Given the description of an element on the screen output the (x, y) to click on. 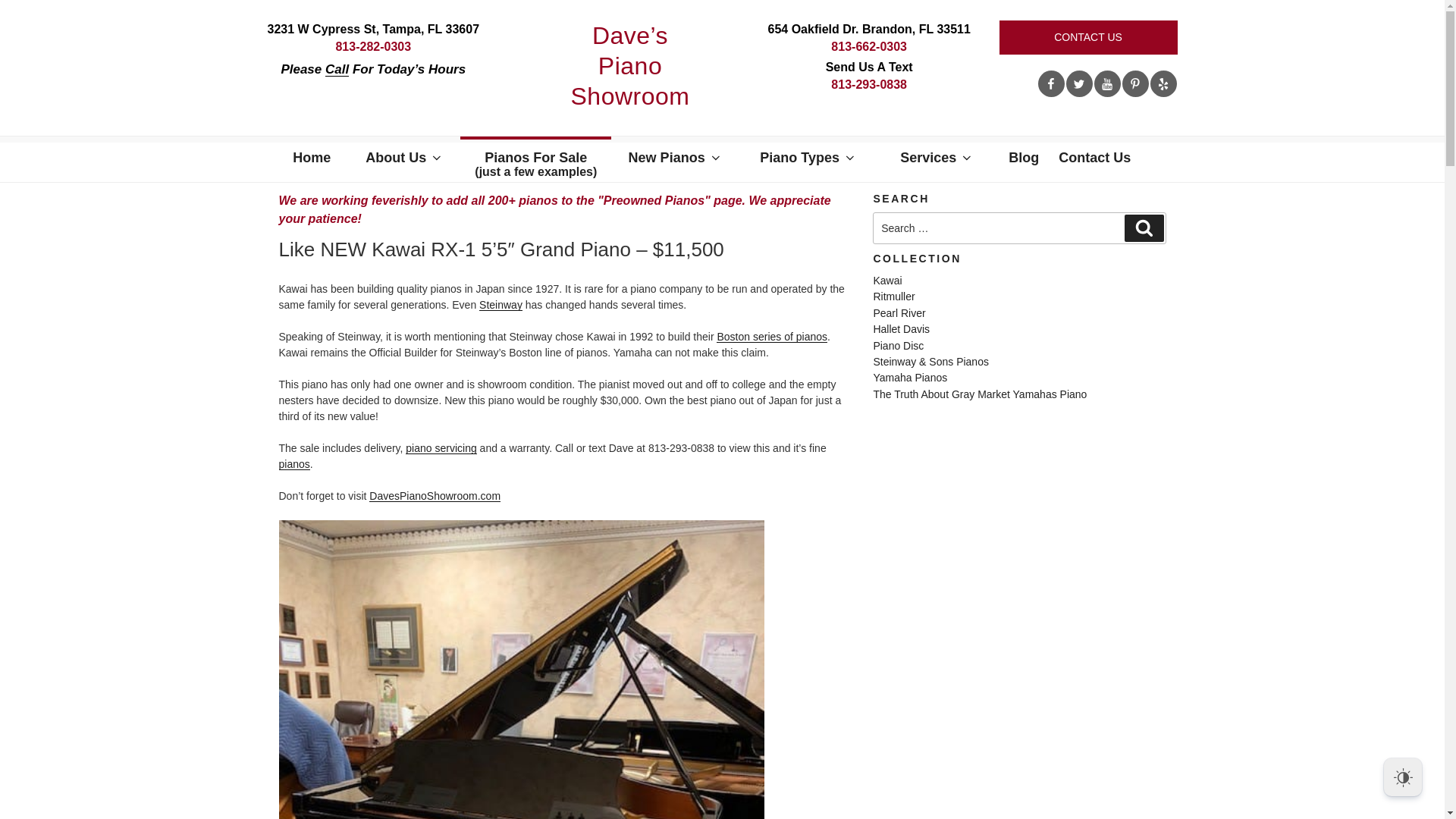
Piano Types (806, 157)
Pinterest (1135, 83)
3231 W Cypress St, Tampa, FL 33607 (372, 29)
813-282-0303 (372, 46)
About Us (402, 157)
813-293-0838 (869, 83)
Youtube (1106, 83)
Call (336, 69)
813-662-0303 (869, 46)
Twitter (1079, 83)
